Given the description of an element on the screen output the (x, y) to click on. 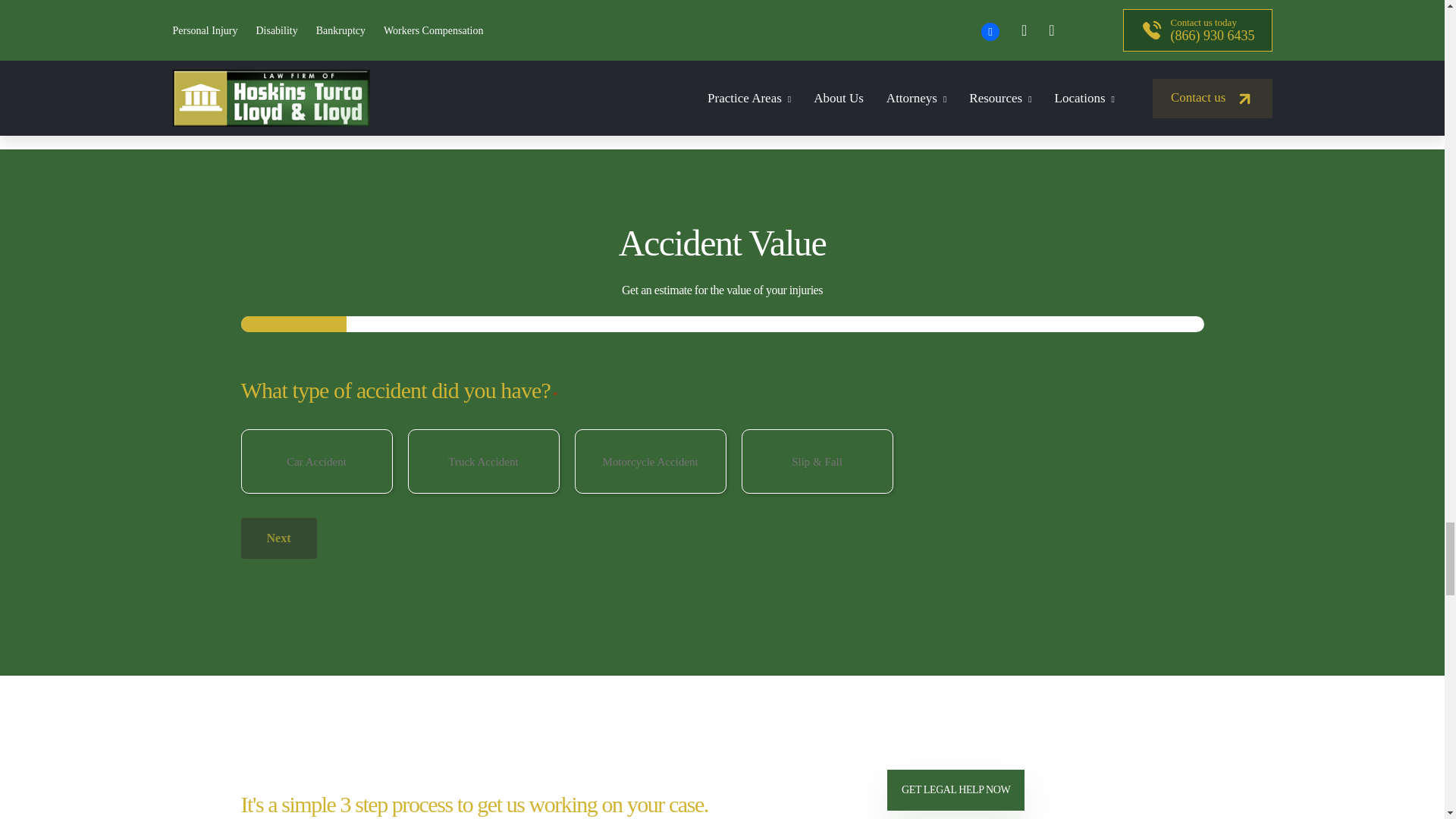
Next (279, 537)
